Given the description of an element on the screen output the (x, y) to click on. 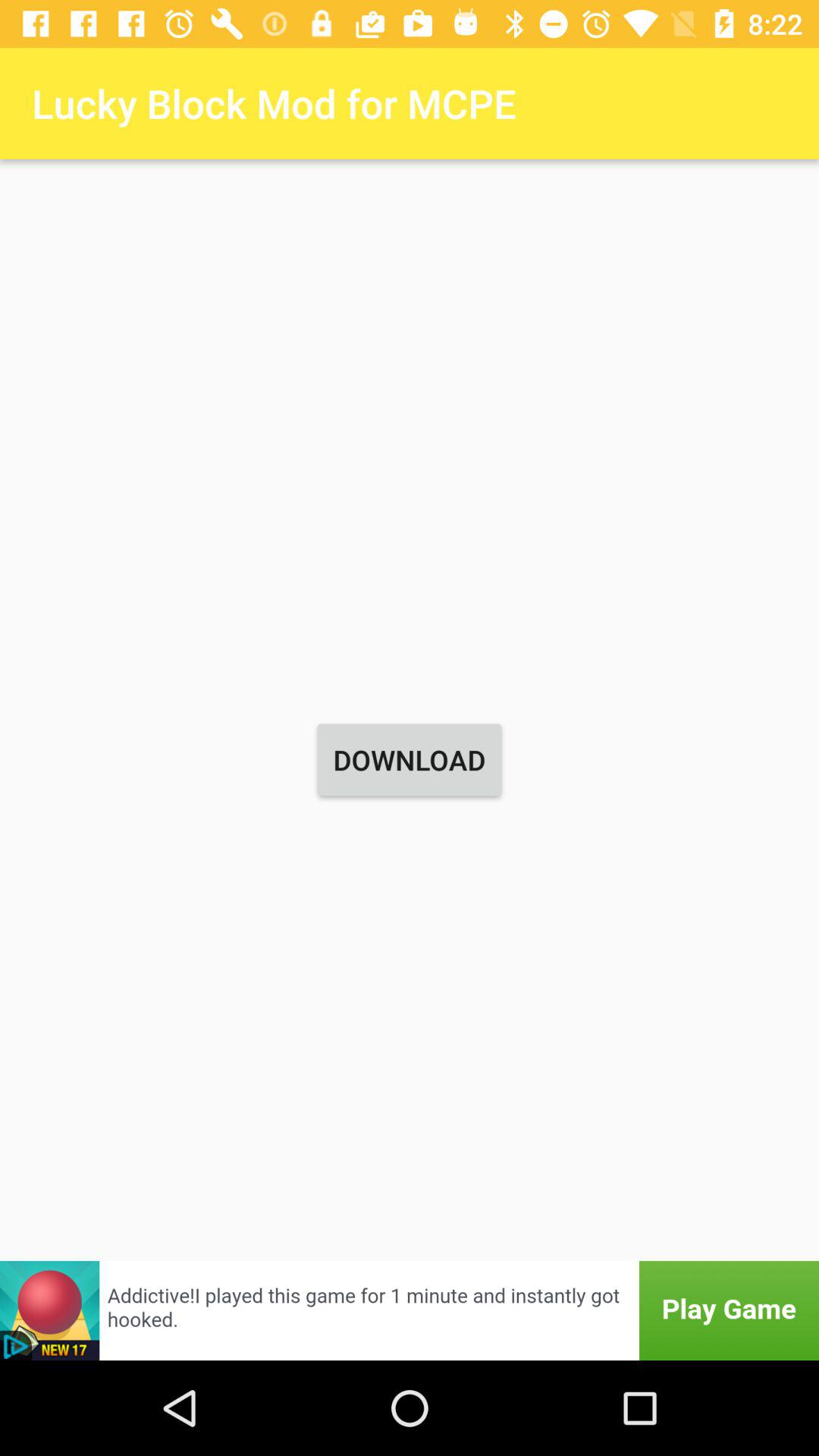
play this game (409, 1310)
